Given the description of an element on the screen output the (x, y) to click on. 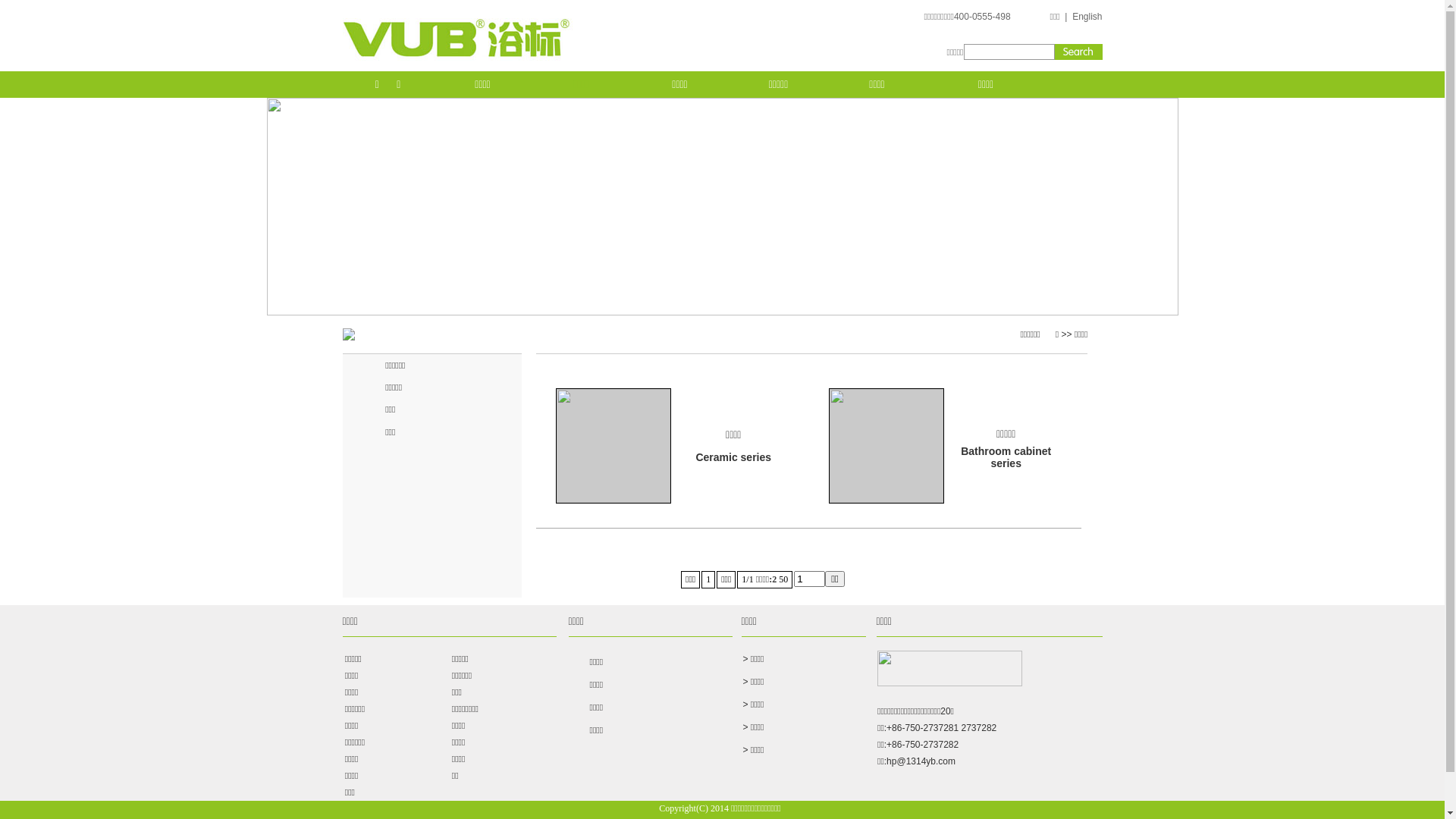
Ceramic series Element type: text (733, 456)
English Element type: text (1086, 16)
Bathroom cabinet series Element type: text (1005, 456)
